Given the description of an element on the screen output the (x, y) to click on. 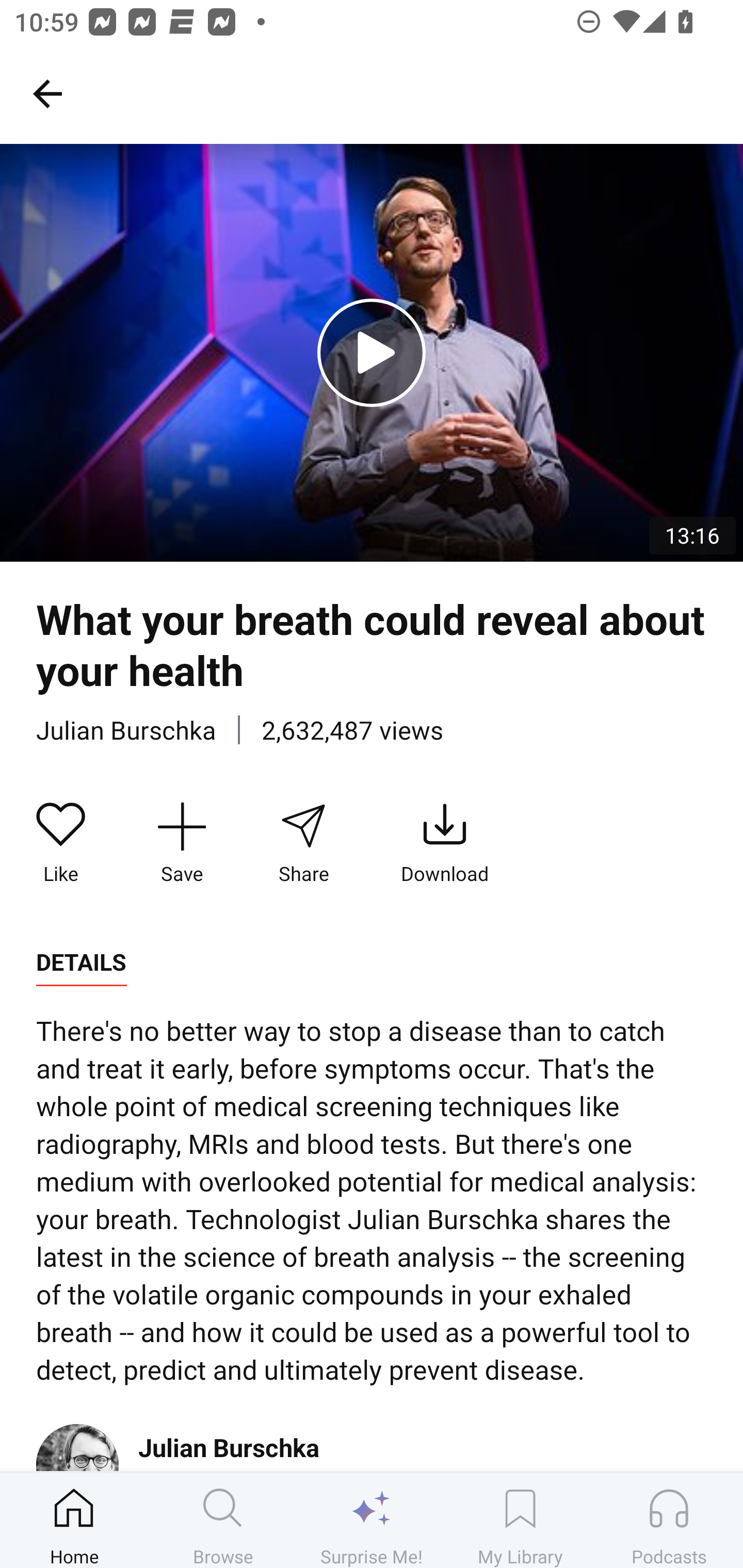
Home, back (47, 92)
Like (60, 843)
Save (181, 843)
Share (302, 843)
Download (444, 843)
DETAILS (80, 962)
Home (74, 1520)
Browse (222, 1520)
Surprise Me! (371, 1520)
My Library (519, 1520)
Podcasts (668, 1520)
